Given the description of an element on the screen output the (x, y) to click on. 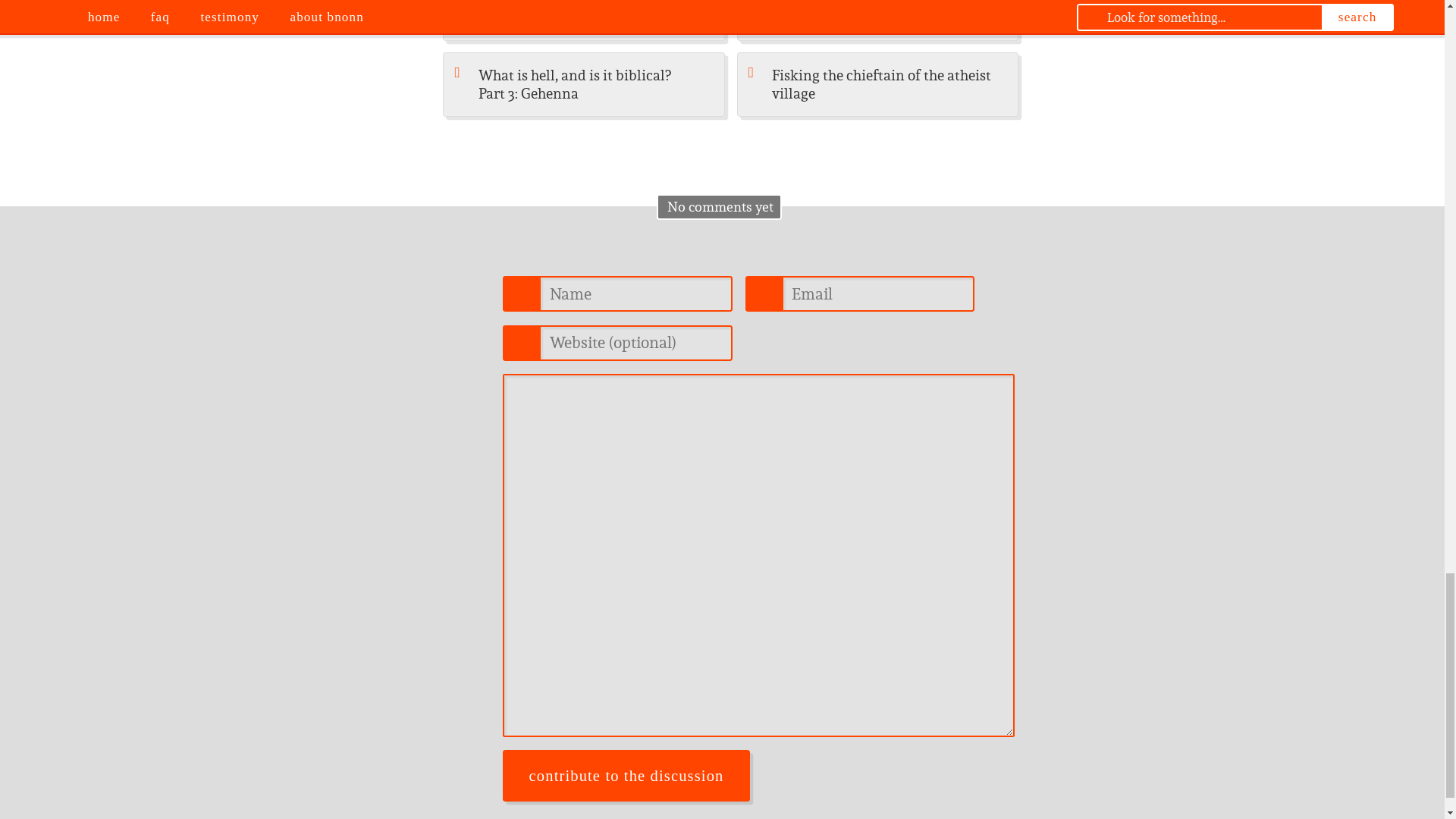
Fisking the chieftain of the atheist village (877, 84)
What is hell, and is it biblical? Part 7: the early church (877, 20)
contribute to the discussion (625, 775)
What is hell, and is it biblical? Part 3: Gehenna (583, 84)
What is hell, and is it biblical? Part 2: the nature of hell (583, 20)
Fisking the chieftain of the atheist village (877, 84)
